Given the description of an element on the screen output the (x, y) to click on. 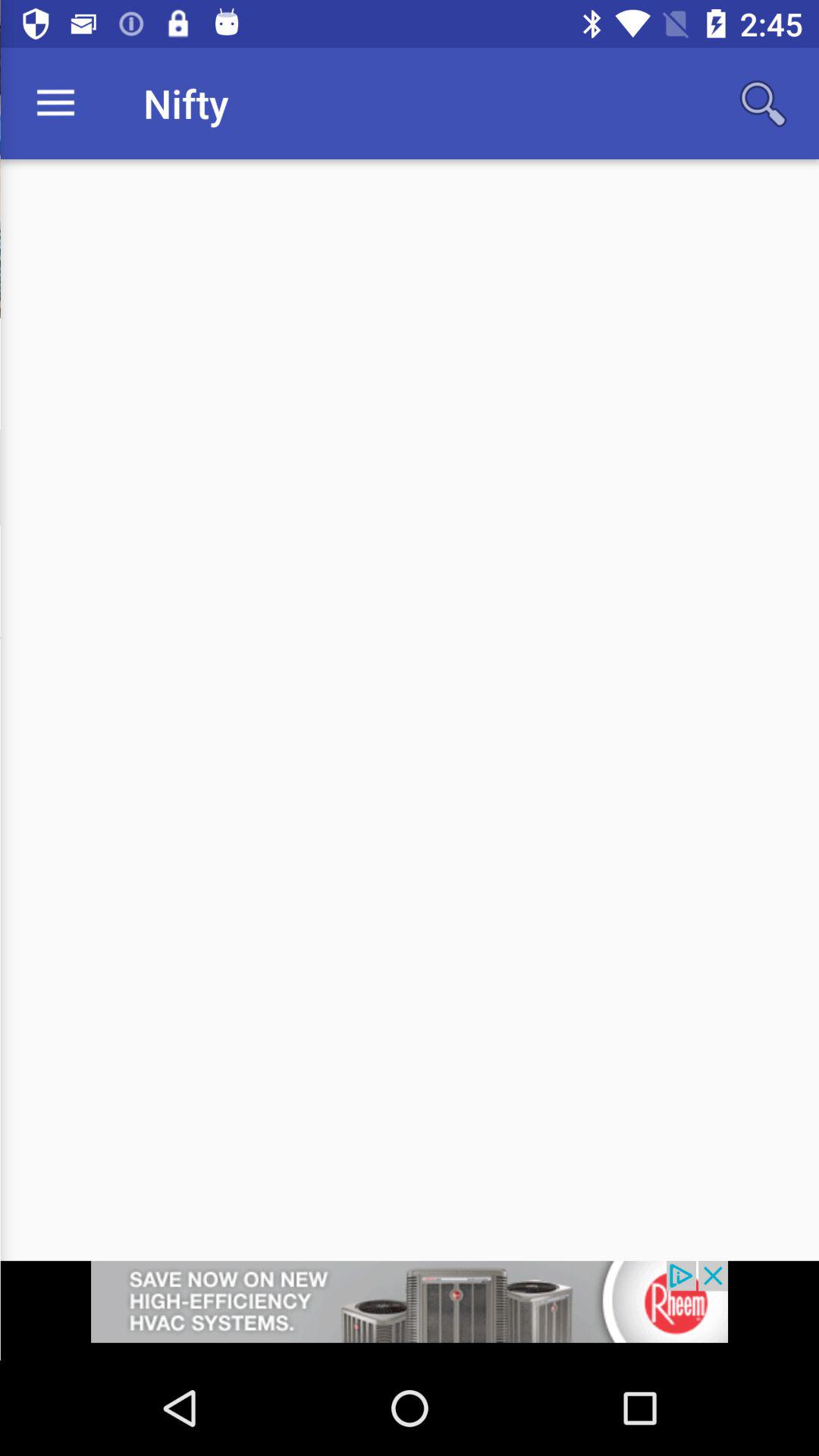
advertising (409, 1310)
